Given the description of an element on the screen output the (x, y) to click on. 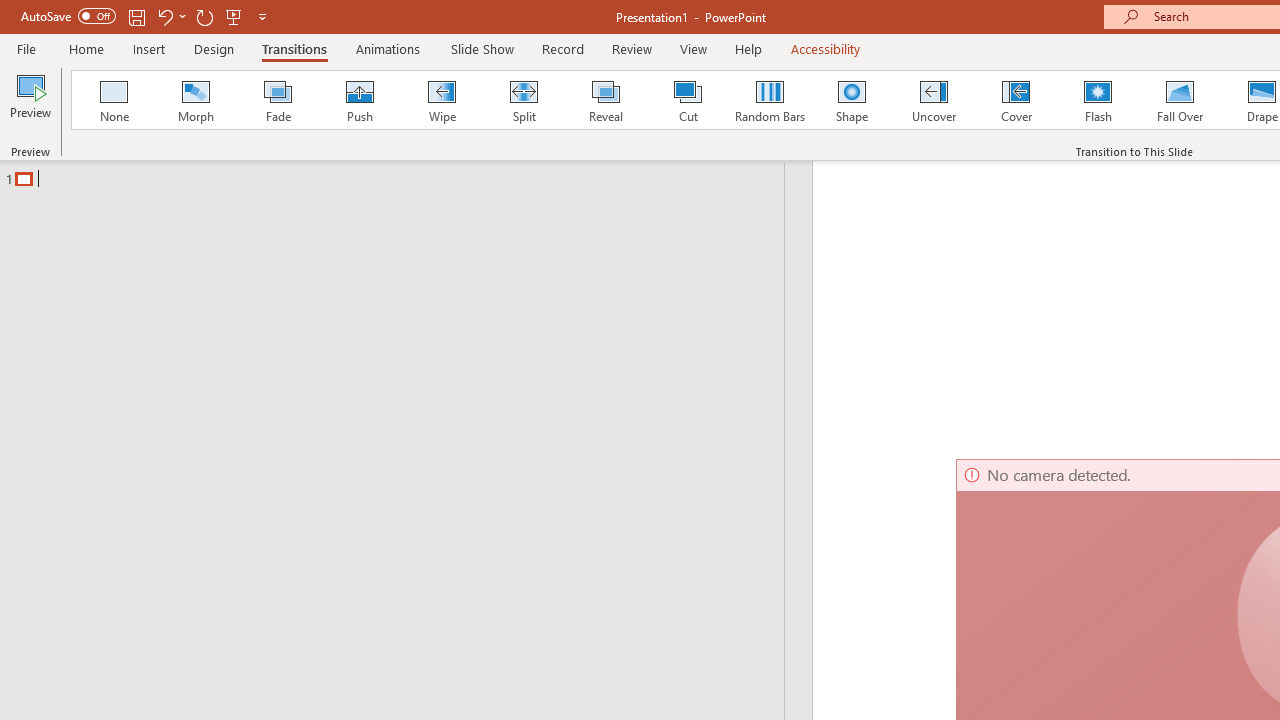
Fall Over (1180, 100)
Flash (1098, 100)
